Given the description of an element on the screen output the (x, y) to click on. 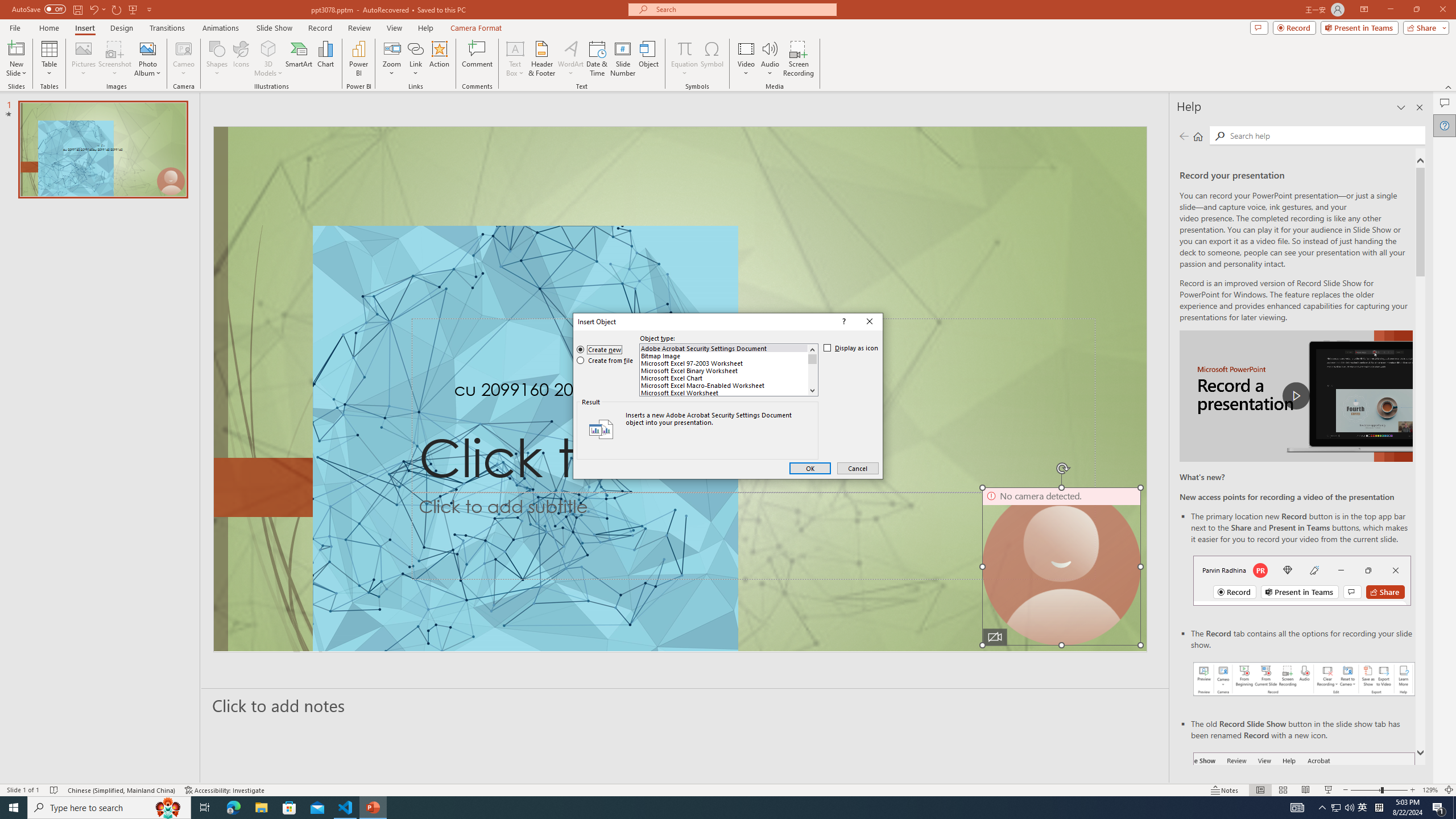
Object... (649, 58)
OK (810, 468)
Video (745, 58)
Draw Horizontal Text Box (515, 48)
Header & Footer... (541, 58)
Microsoft Excel Macro-Enabled Worksheet (724, 385)
Action (439, 58)
Create from file (605, 360)
